Given the description of an element on the screen output the (x, y) to click on. 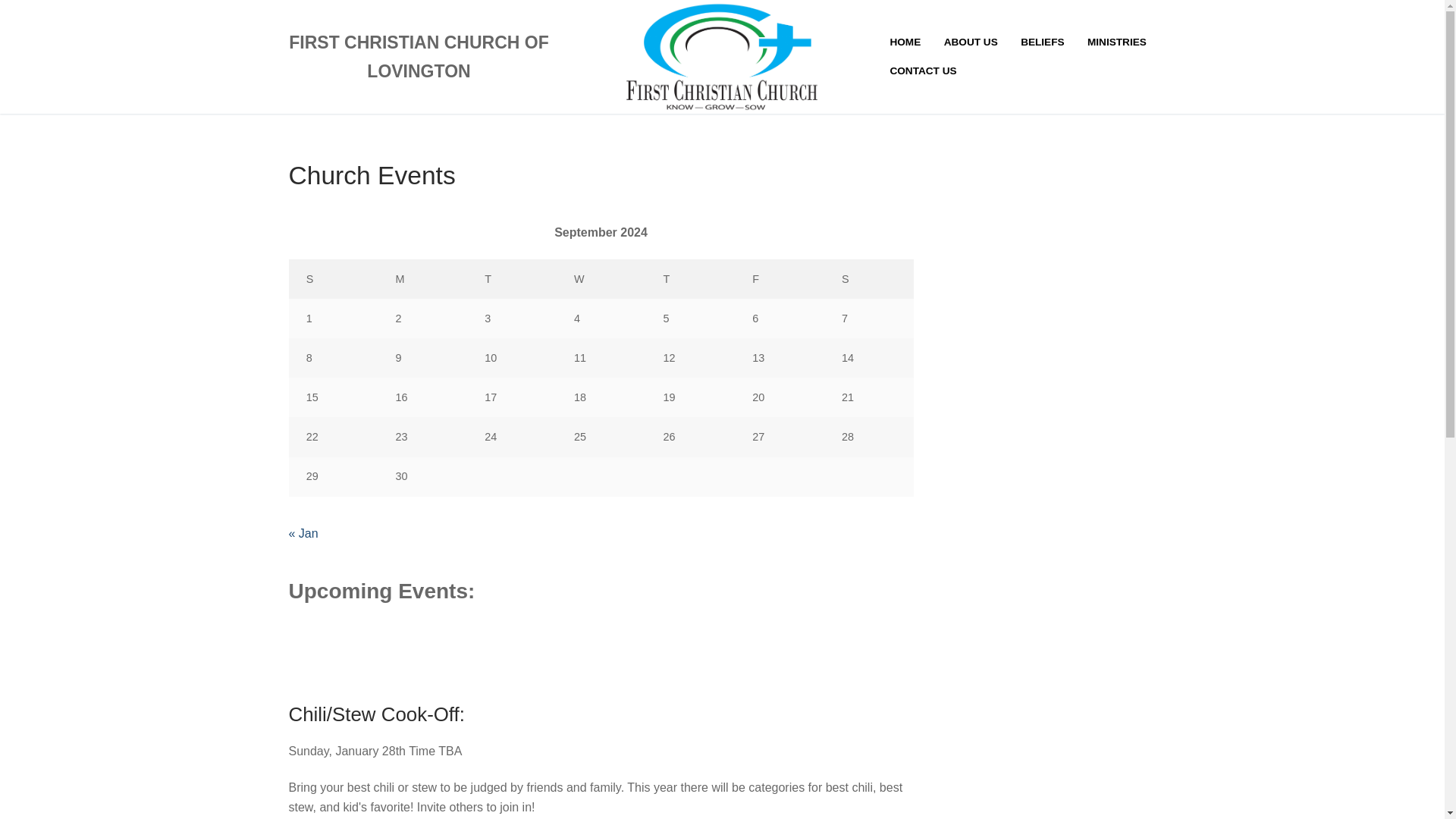
MINISTRIES (1116, 41)
Sunday (332, 278)
ABOUT US (970, 41)
Friday (779, 278)
Thursday (690, 278)
CONTACT US (922, 70)
HOME (904, 41)
Saturday (869, 278)
Monday (422, 278)
Wednesday (601, 278)
